Given the description of an element on the screen output the (x, y) to click on. 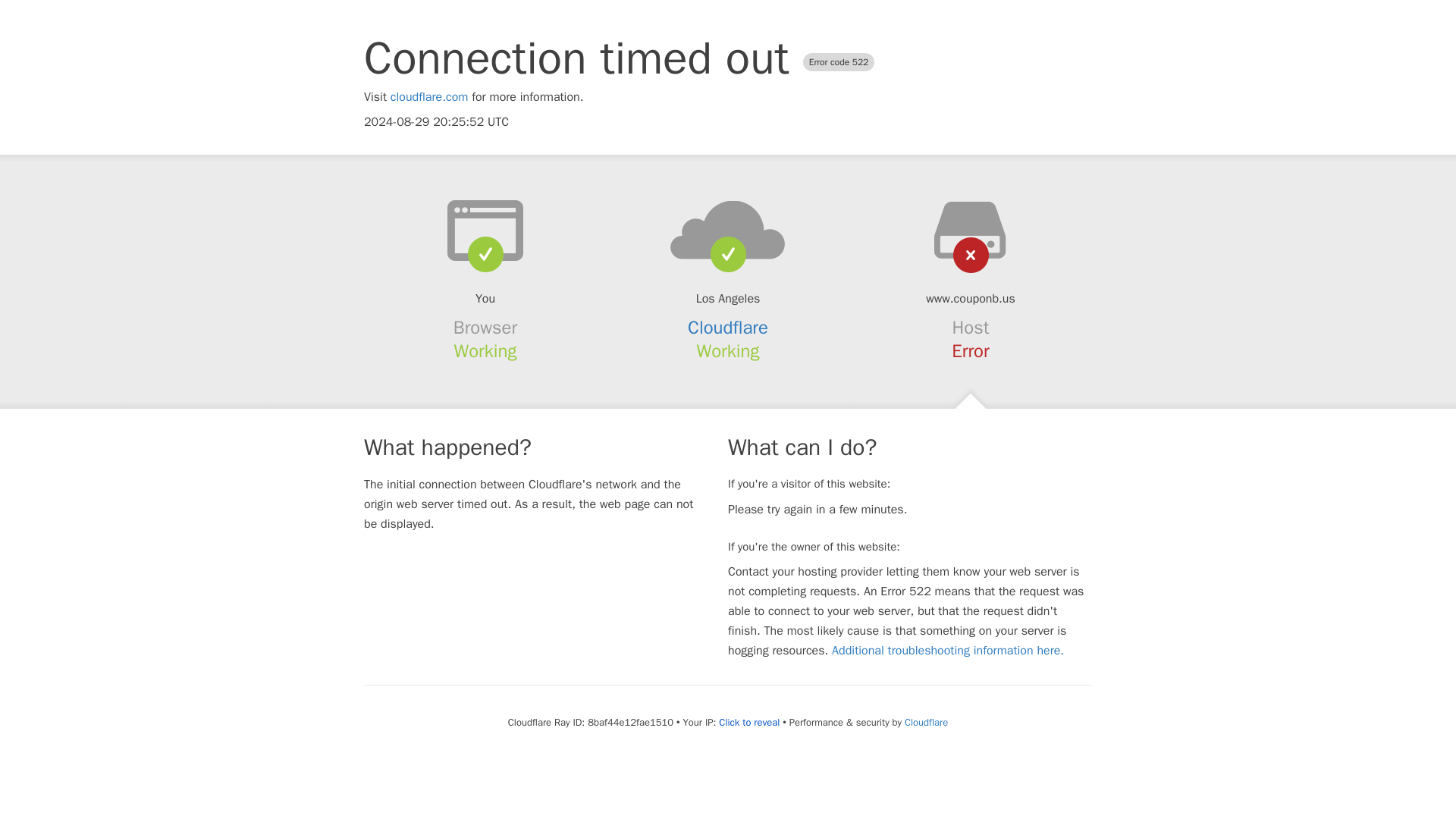
Click to reveal (748, 722)
Additional troubleshooting information here. (947, 650)
Cloudflare (925, 721)
cloudflare.com (429, 96)
Cloudflare (727, 327)
